Given the description of an element on the screen output the (x, y) to click on. 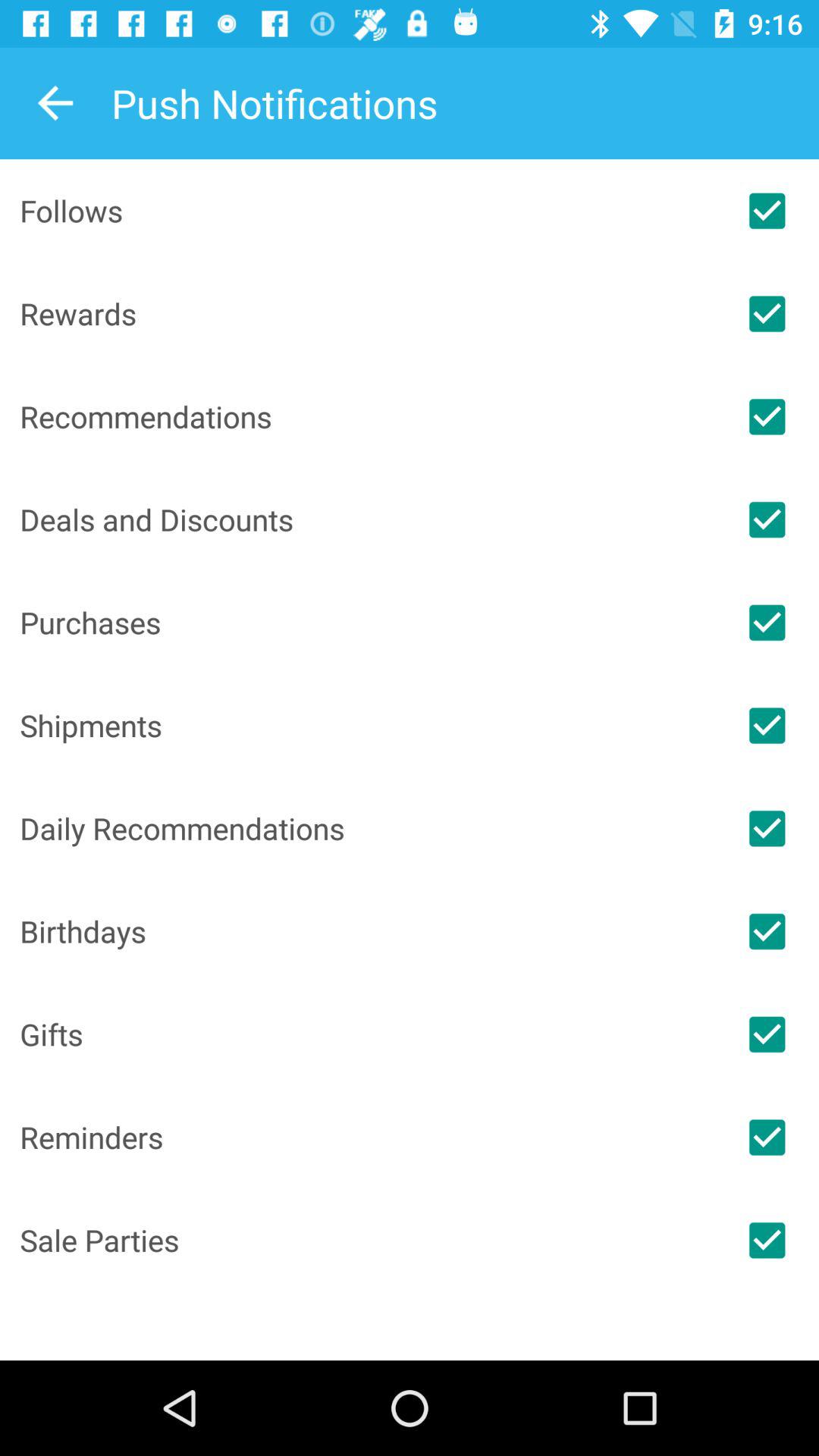
enable sale parties option (767, 1240)
